Given the description of an element on the screen output the (x, y) to click on. 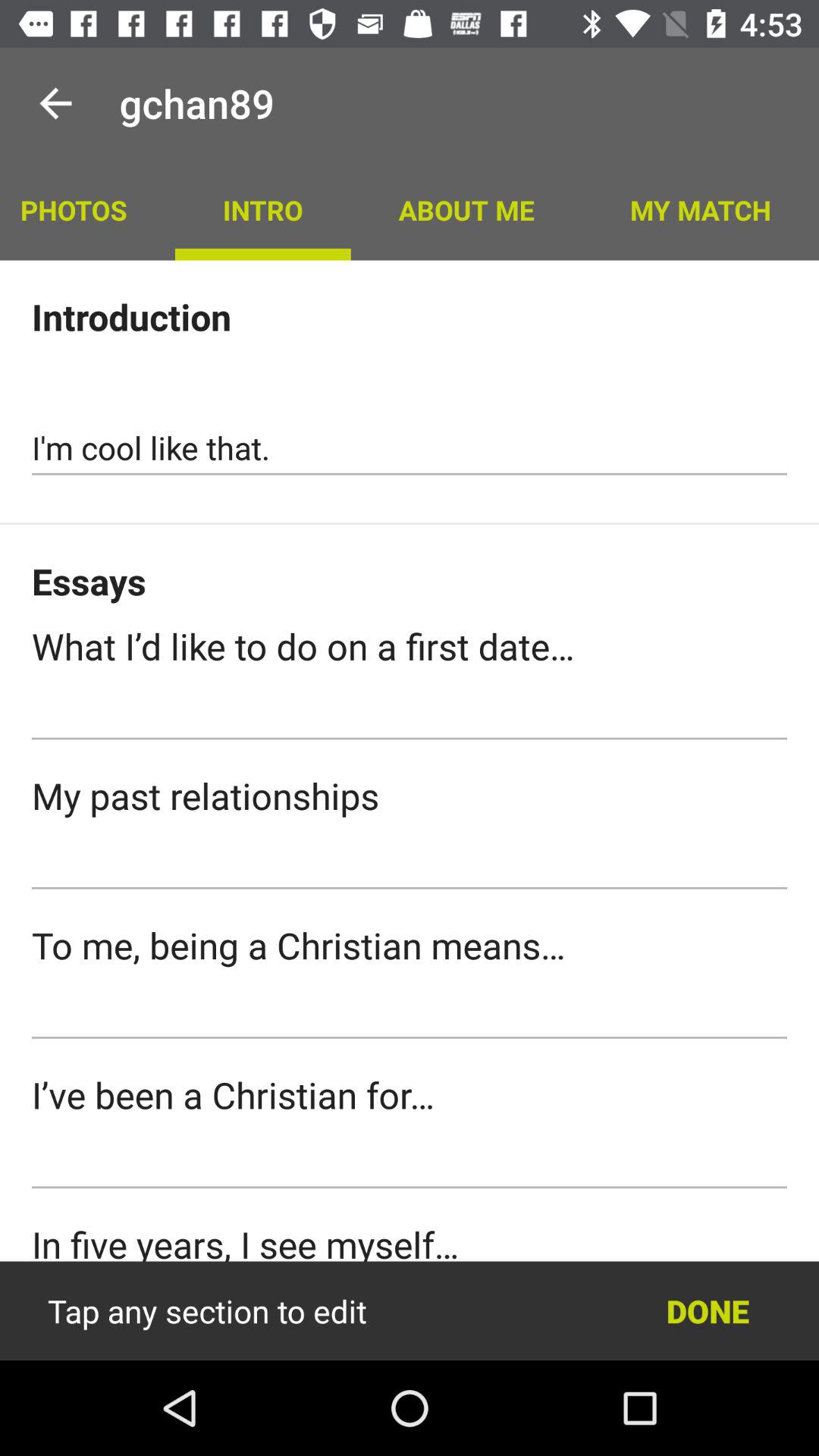
click the tab (409, 712)
